Given the description of an element on the screen output the (x, y) to click on. 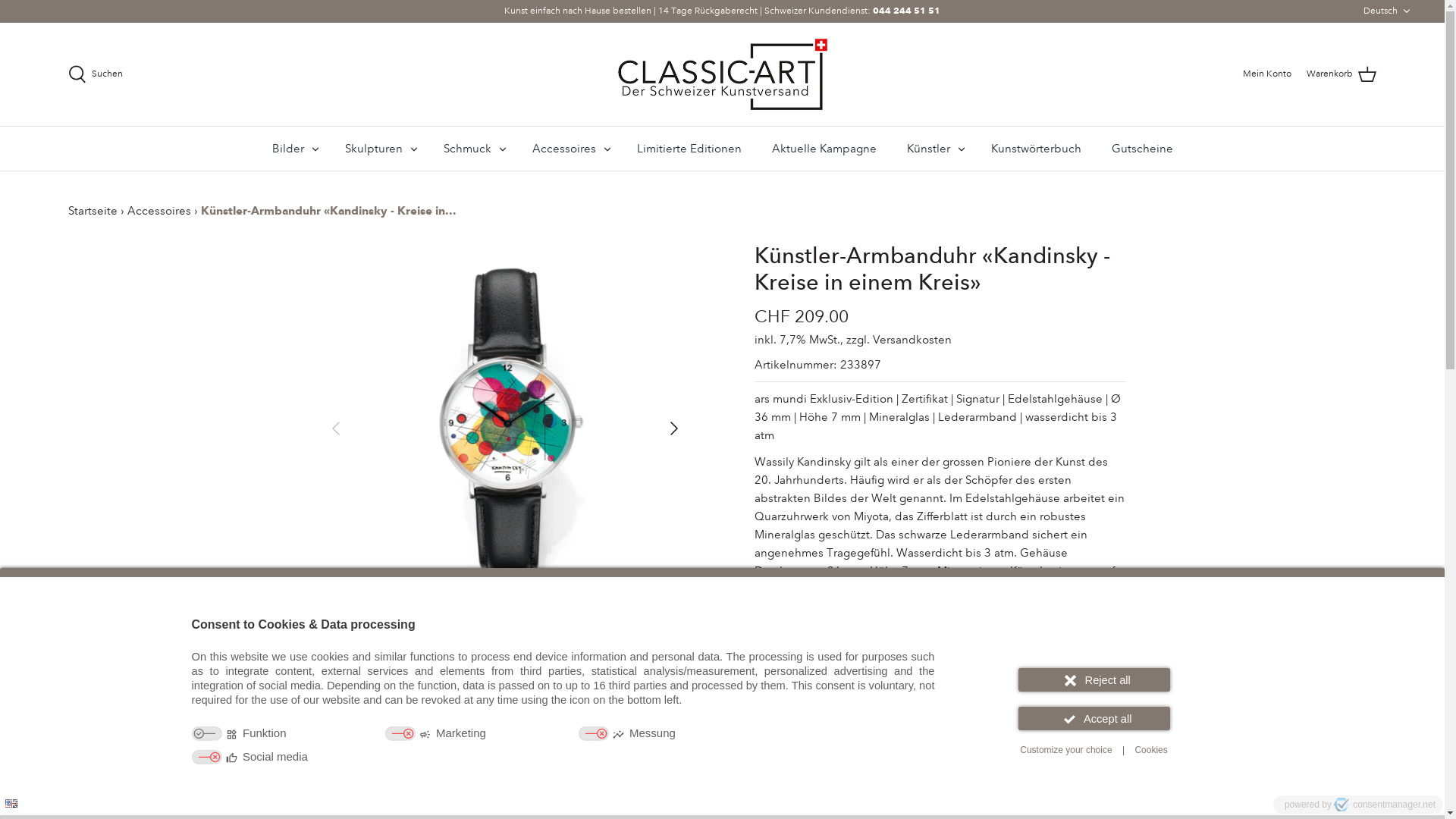
Facebook
Teilen Element type: text (810, 782)
Mein Konto Element type: text (1266, 73)
Schweizer Kundendienst: 044 244 51 51 Element type: text (852, 10)
Minus Element type: text (771, 680)
In den Warenkorb Element type: text (939, 731)
Versandkosten Element type: text (911, 339)
Limitierte Editionen Element type: text (689, 148)
Gutscheine Element type: text (1142, 148)
Warenkorb Element type: text (1341, 74)
Twitter
Twittern Element type: text (831, 782)
Classic-Art Element type: hover (721, 73)
Accessoires Element type: text (563, 148)
Links Element type: text (334, 428)
Bilder Element type: text (286, 148)
Deutsch
Runter Element type: text (1388, 10)
Suchen Element type: text (95, 74)
Schmuck Element type: text (466, 148)
Skulpturen Element type: text (372, 148)
Plus Element type: text (859, 680)
Rechts Element type: text (673, 428)
Startseite Element type: text (94, 210)
Aktuelle Kampagne Element type: text (824, 148)
Pinterest
Pinnen Element type: text (854, 782)
